Given the description of an element on the screen output the (x, y) to click on. 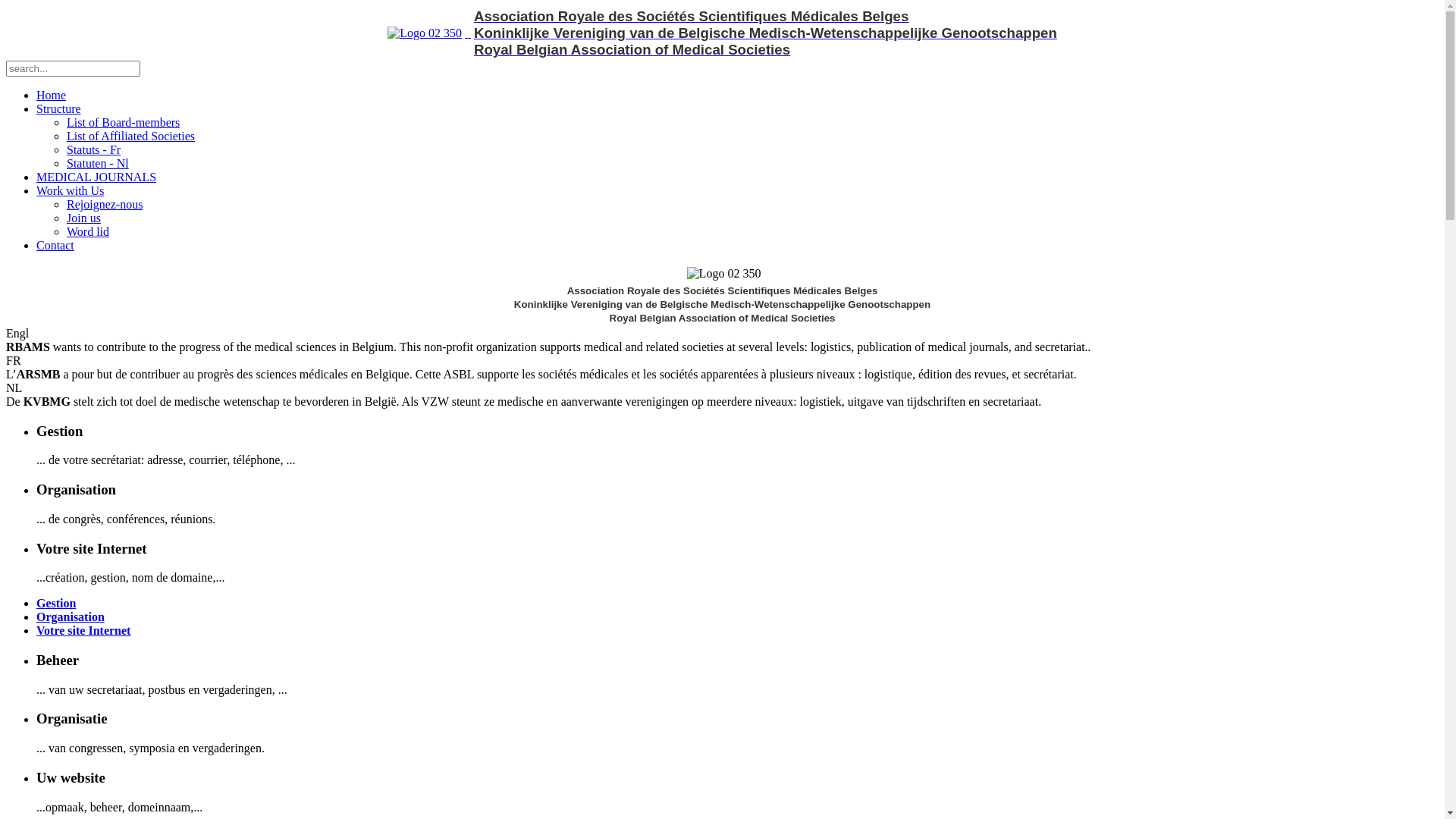
Statuten - Nl Element type: text (97, 162)
Votre site Internet Element type: text (83, 630)
Work with Us Element type: text (69, 190)
List of Board-members Element type: text (122, 122)
MEDICAL JOURNALS Element type: text (96, 176)
Gestion Element type: text (55, 602)
List of Affiliated Societies Element type: text (130, 135)
Word lid Element type: text (87, 231)
Organisation Element type: text (70, 616)
Structure Element type: text (58, 108)
Contact Element type: text (55, 244)
Home Element type: text (50, 94)
Join us Element type: text (83, 217)
Rejoignez-nous Element type: text (104, 203)
Statuts - Fr Element type: text (93, 149)
